Given the description of an element on the screen output the (x, y) to click on. 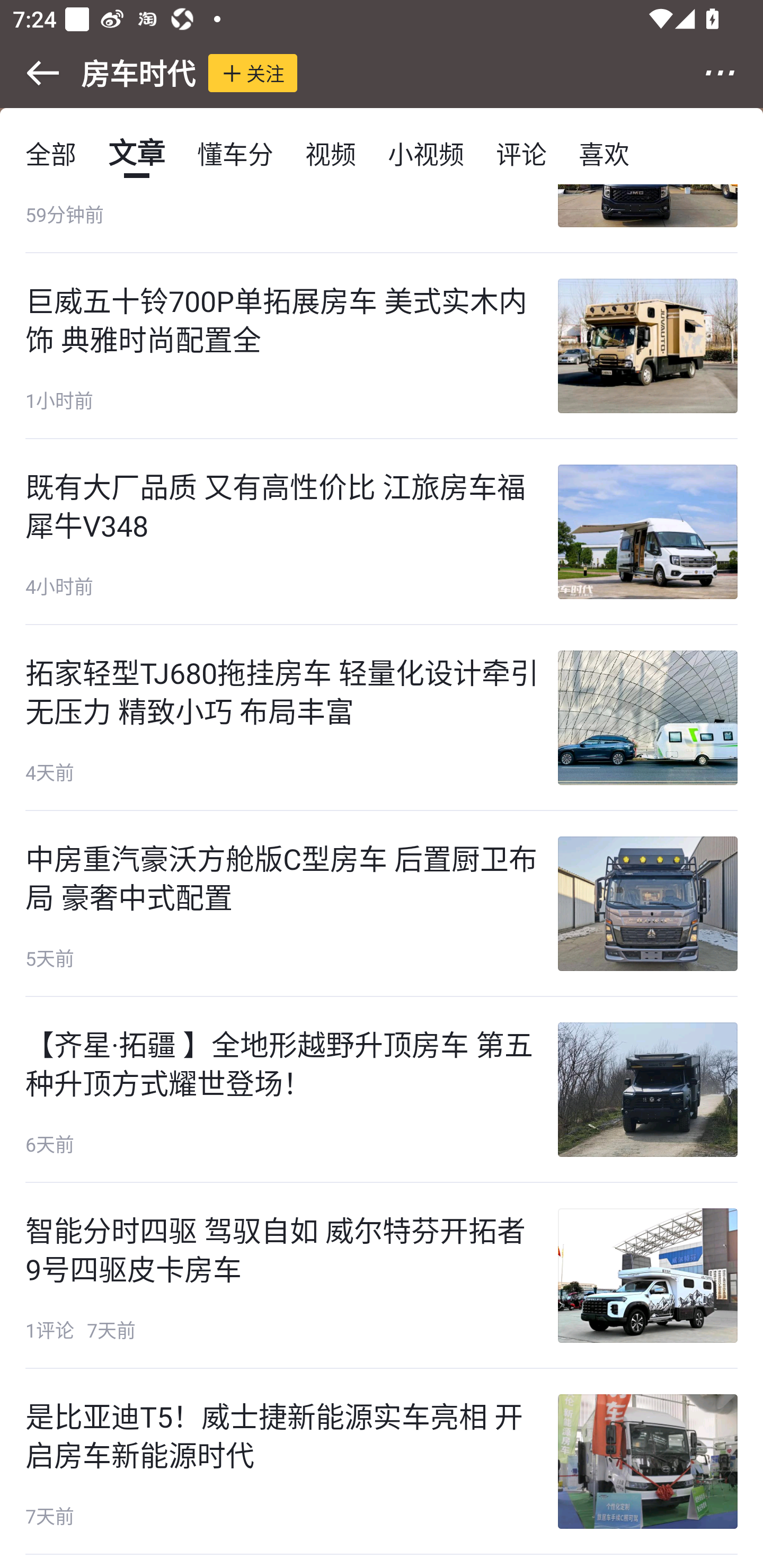
 (30, 72)
 (732, 72)
 关注 (252, 72)
全部 (50, 152)
文章 (136, 152)
懂车分 (234, 152)
视频 (330, 152)
小视频 (425, 152)
评论 (521, 152)
喜欢 (603, 152)
巨威五十铃700P单拓展房车 美式实木内饰 典雅时尚配置全 1小时前 (381, 345)
既有大厂品质 又有高性价比 江旅房车福犀牛V348 4小时前 (381, 532)
拓家轻型TJ680拖挂房车 轻量化设计牵引无压力 精致小巧 布局丰富 4天前 (381, 717)
中房重汽豪沃方舱版C型房车 后置厨卫布局 豪奢中式配置 5天前 (381, 903)
【齐星·拓疆 】全地形越野升顶房车 第五种升顶方式耀世登场！ 6天前 (381, 1089)
智能分时四驱 驾驭自如 威尔特芬开拓者9号四驱皮卡房车 1评论 7天前 (381, 1275)
是比亚迪T5！威士捷新能源实车亮相 开启房车新能源时代 7天前 (381, 1461)
